Given the description of an element on the screen output the (x, y) to click on. 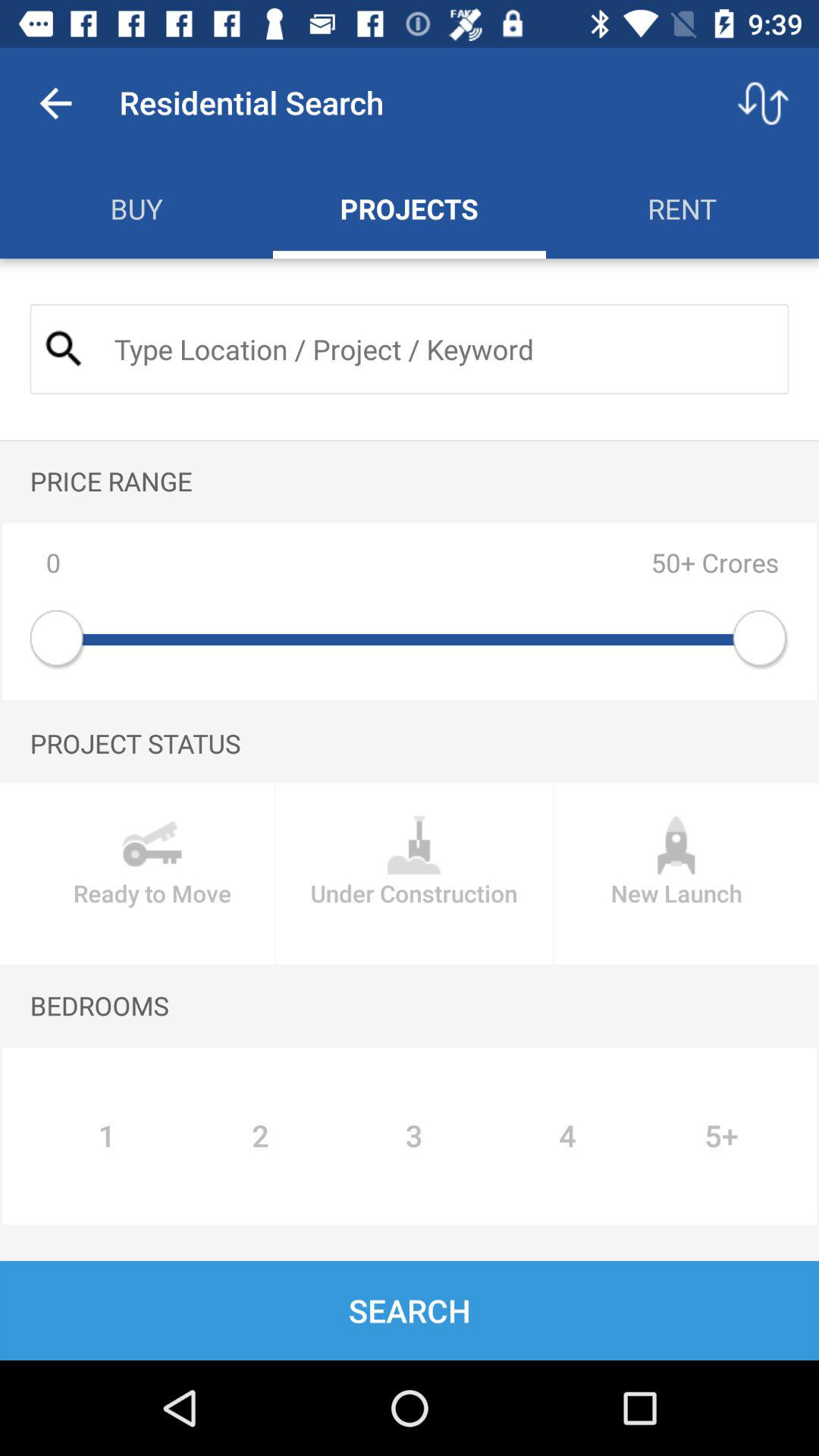
type property location project or keyword (438, 349)
